Given the description of an element on the screen output the (x, y) to click on. 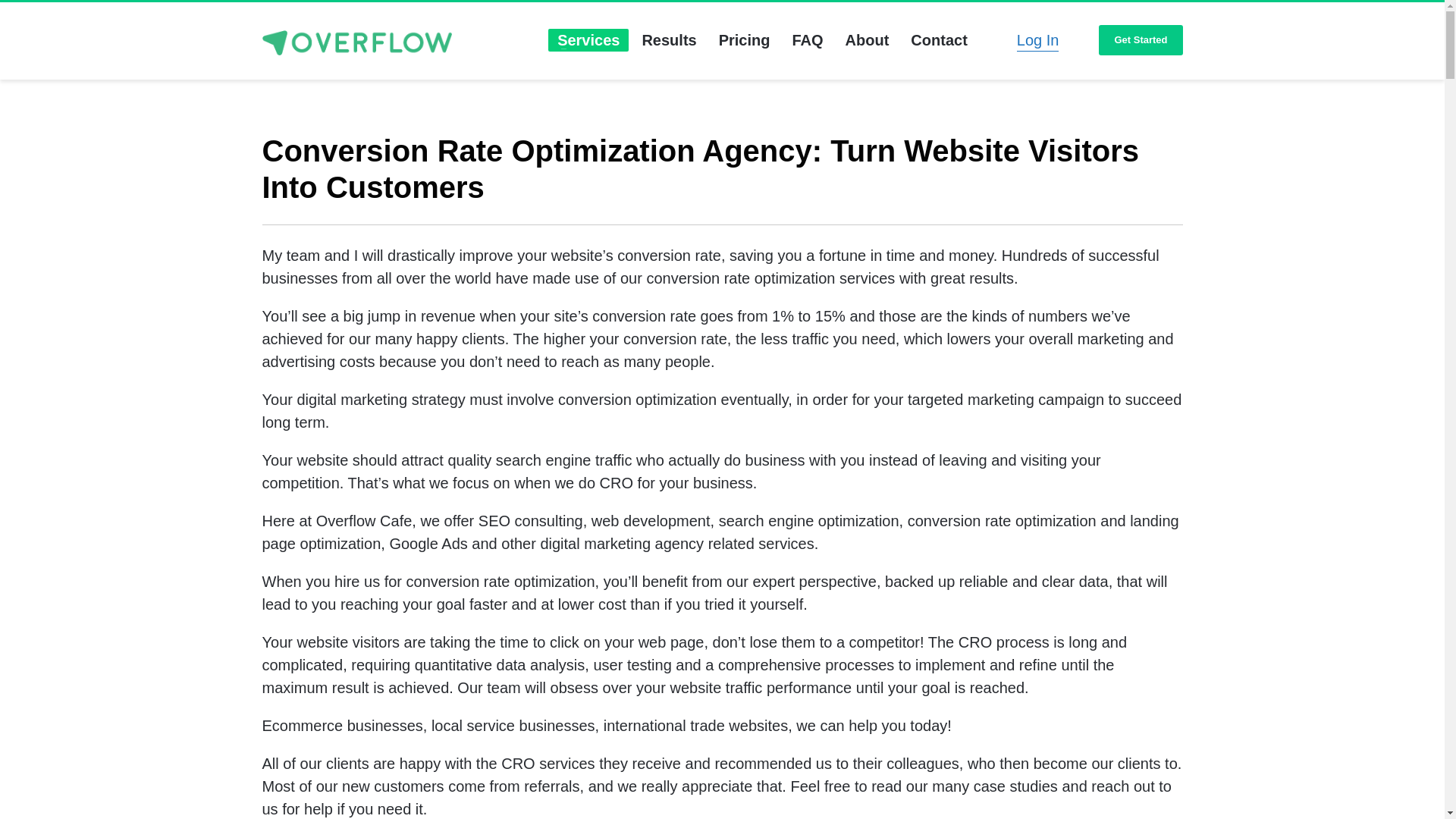
Services (588, 40)
Get Started (1140, 40)
Log In (1037, 40)
FAQ (807, 40)
Digital Marketing Agency Toronto (356, 42)
Results (667, 40)
Pricing (744, 40)
Log In (1037, 40)
About (866, 40)
Contact (938, 40)
